Given the description of an element on the screen output the (x, y) to click on. 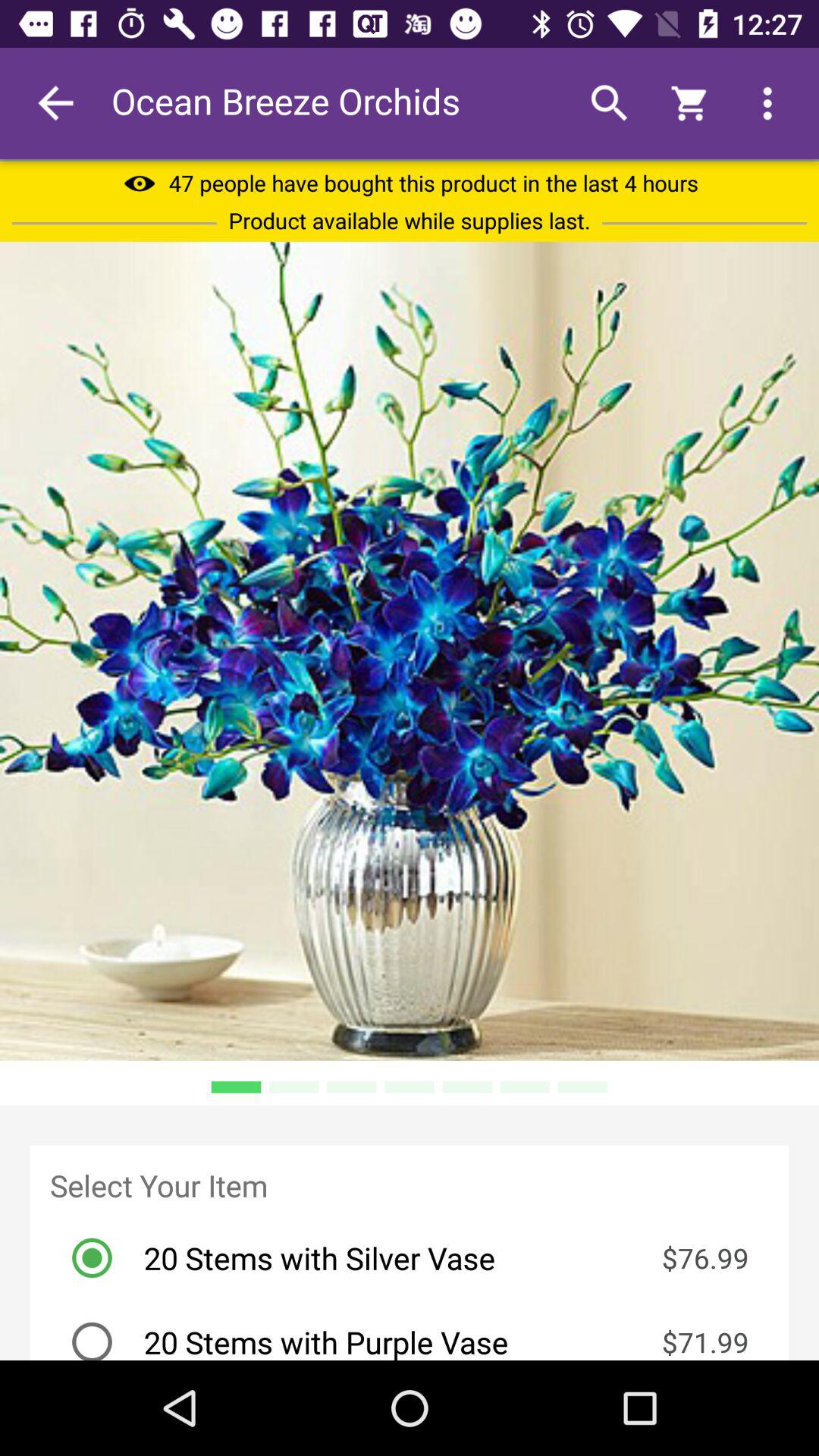
click on the three dot button at the top right corner of the page (767, 102)
click on the first radio button along with the two sentences next to it (418, 1257)
click on the last item of the page (418, 1329)
click on the icon right to the text orchids (609, 102)
